Given the description of an element on the screen output the (x, y) to click on. 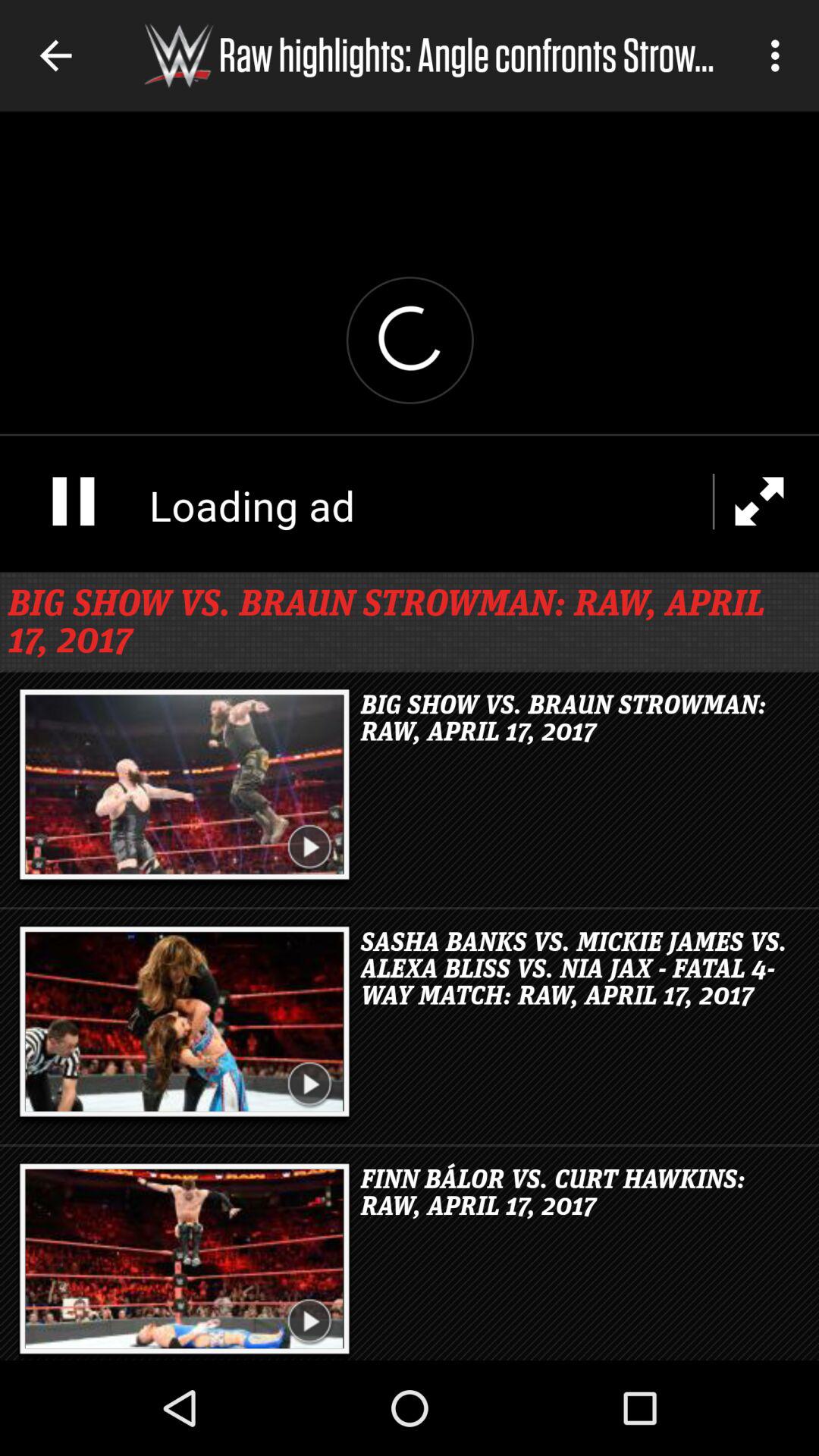
video open option (409, 341)
